Given the description of an element on the screen output the (x, y) to click on. 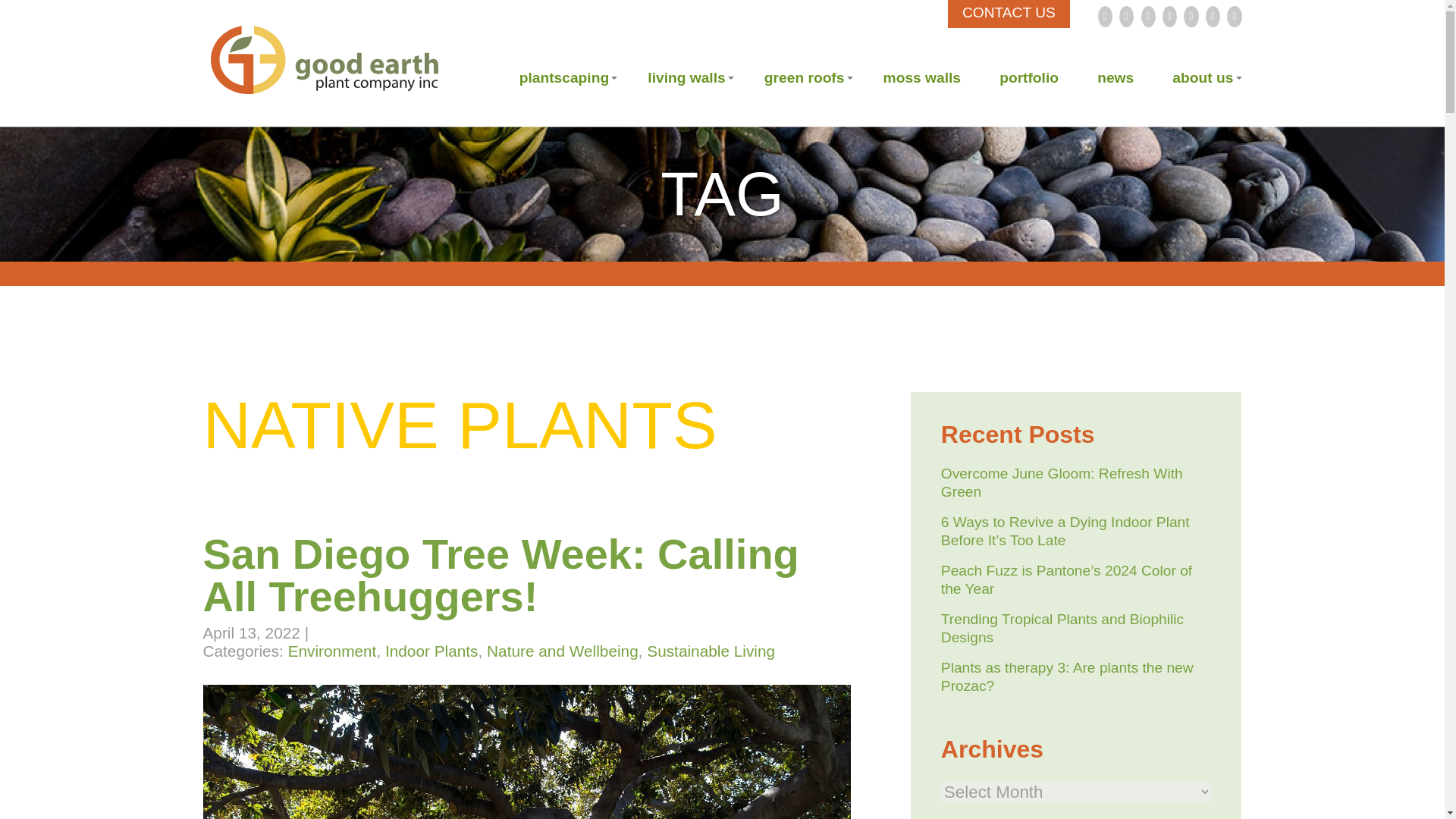
living walls (690, 77)
about us (1206, 77)
San Diego Tree Week: Calling All Treehuggers! (501, 574)
plantscaping (568, 77)
news (1119, 77)
green roofs (808, 77)
CONTACT US (1008, 13)
moss walls (926, 77)
portfolio (1032, 77)
San Diego Tree Week: Calling All Treehuggers! (501, 574)
